Given the description of an element on the screen output the (x, y) to click on. 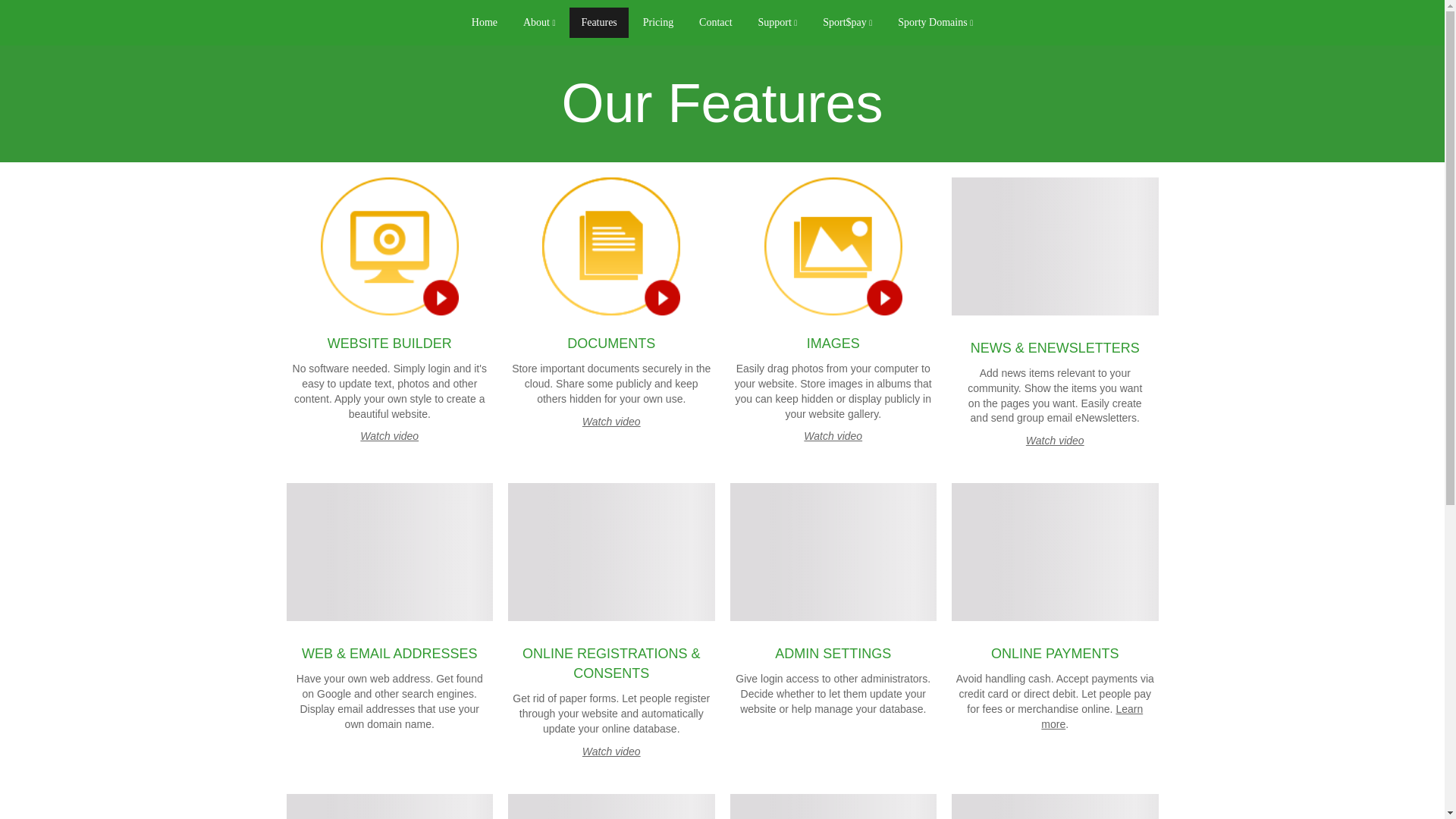
Watch video (611, 751)
Contact (715, 22)
Watch video (1055, 440)
Support (776, 22)
About (539, 22)
Sporty Domains (935, 22)
Watch video (389, 435)
Features (598, 22)
Pricing (657, 22)
Home (484, 22)
Watch video (832, 435)
Learn more (1091, 716)
Watch video (611, 421)
